Given the description of an element on the screen output the (x, y) to click on. 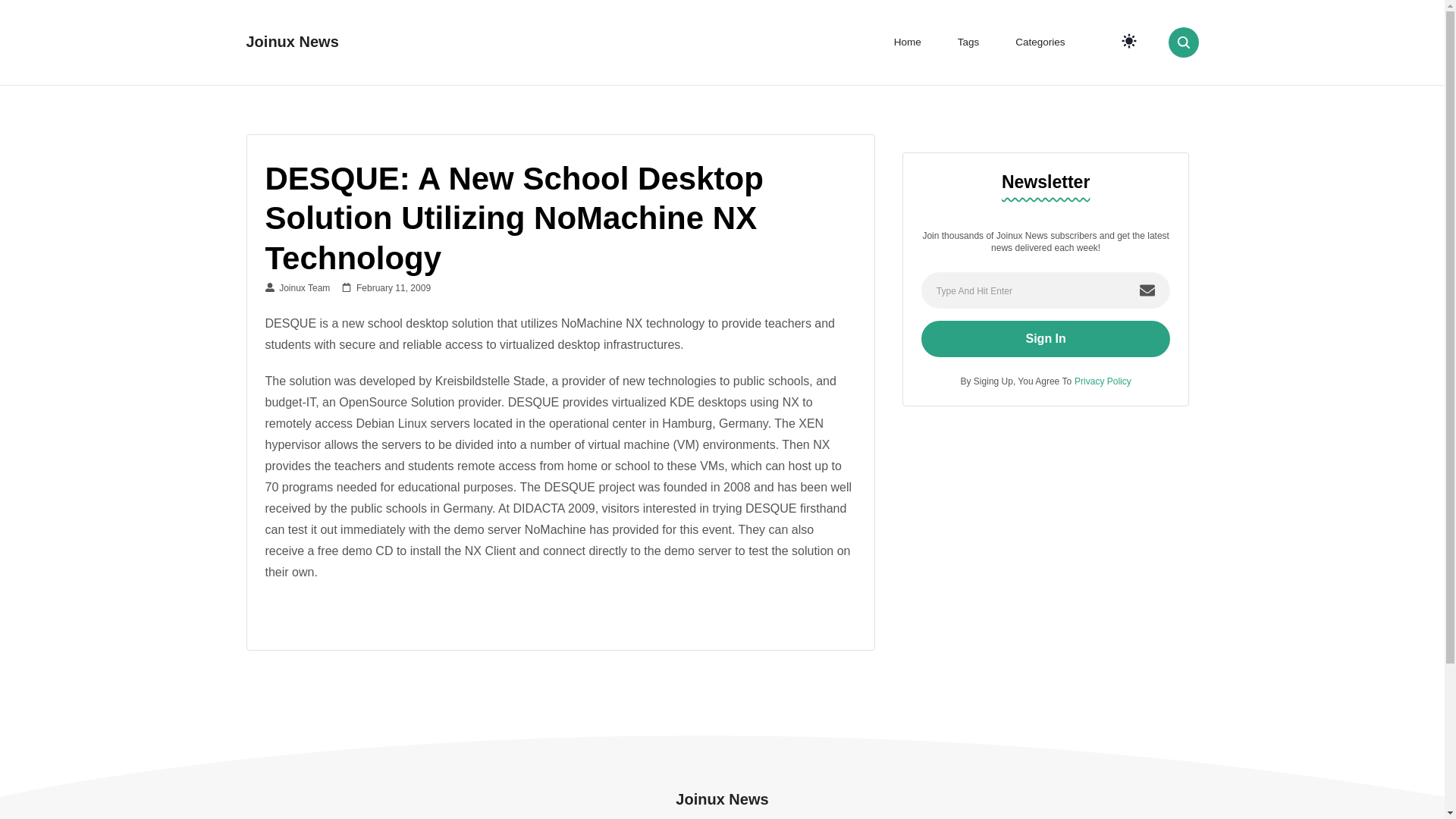
Joinux News (721, 798)
Sign In (1045, 339)
Categories (1040, 42)
Privacy Policy (1102, 380)
  Joinux Team (297, 287)
Tags (968, 42)
Home (907, 42)
Joinux News (291, 41)
